Given the description of an element on the screen output the (x, y) to click on. 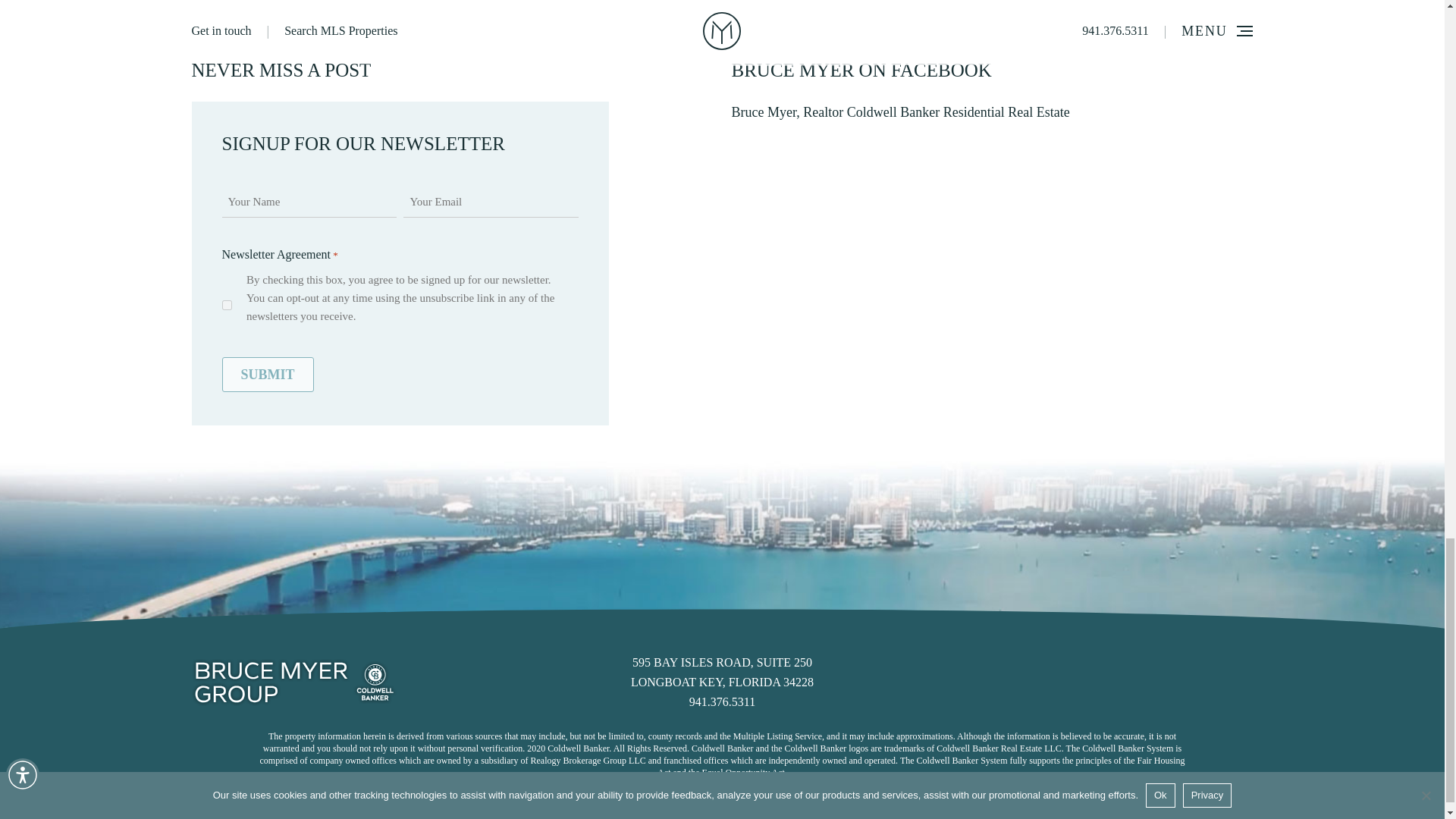
Sitespring (416, 811)
Bruce Myer, Realtor Coldwell Banker Residential Real Estate (721, 672)
941.376.5311 (899, 111)
Privacy Policy (721, 701)
Sitemap (1091, 812)
Submit (1237, 812)
Accessibility Statement (267, 375)
Submit (1170, 812)
